Given the description of an element on the screen output the (x, y) to click on. 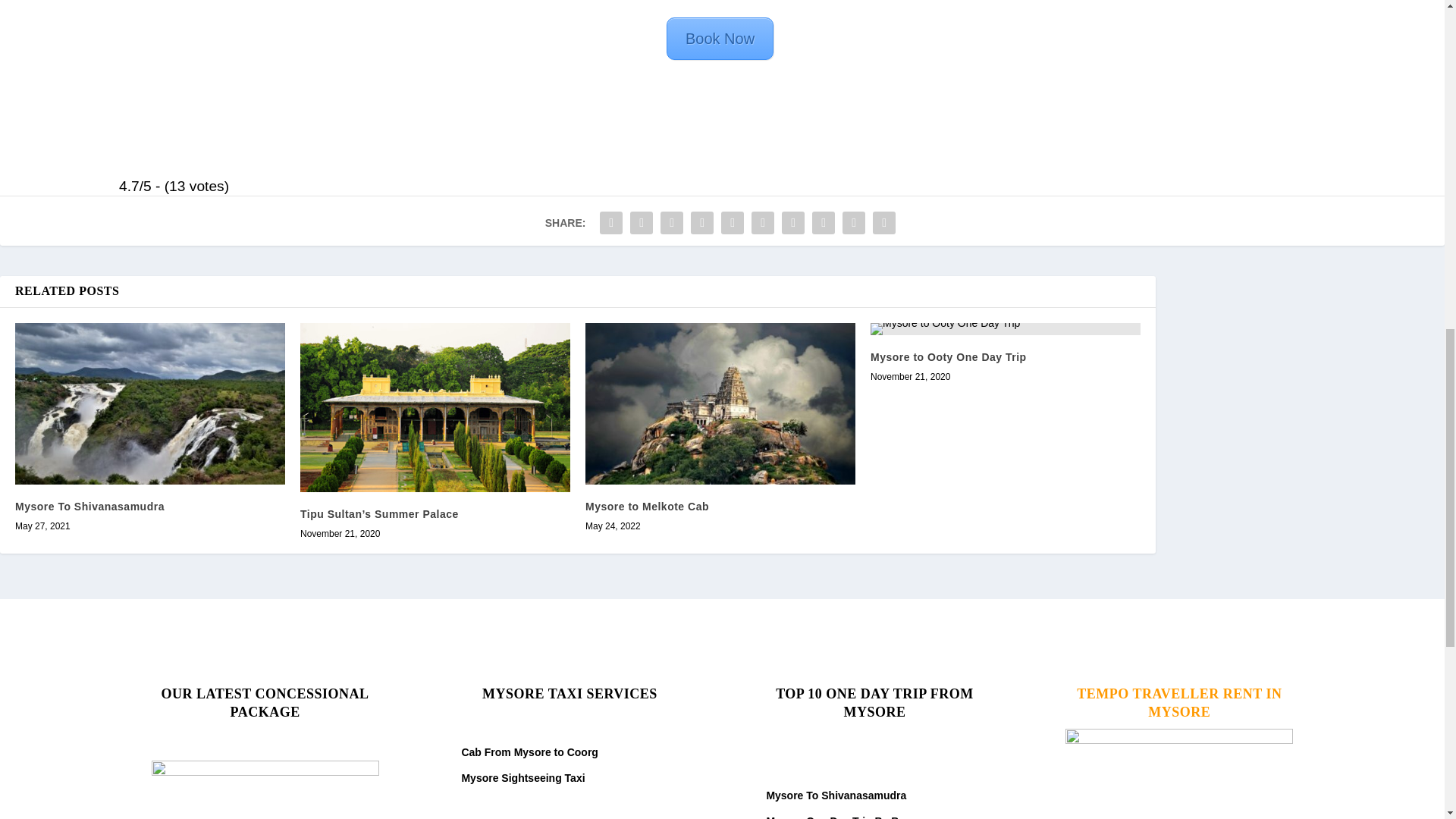
Mysore Outstation Taxi  (520, 727)
Share "Adi Ranga antya Ranga Madhya Ranga" via Print (884, 223)
Mysore To Shivanasamudra (89, 506)
Mysore to Ooty One Day Trip (948, 357)
Share "Adi Ranga antya Ranga Madhya Ranga" via Pinterest (732, 223)
Share "Adi Ranga antya Ranga Madhya Ranga" via Facebook (610, 223)
Share "Adi Ranga antya Ranga Madhya Ranga" via LinkedIn (762, 223)
Mysore Sightseeing Taxi (523, 777)
Mysore To Shivanasamudra (149, 403)
Share "Adi Ranga antya Ranga Madhya Ranga" via Buffer (792, 223)
Mysore to Melkote Cab (647, 506)
Book Now (719, 38)
Share "Adi Ranga antya Ranga Madhya Ranga" via Stumbleupon (823, 223)
Share "Adi Ranga antya Ranga Madhya Ranga" via Email (853, 223)
Cab From Mysore to Coorg (528, 752)
